Given the description of an element on the screen output the (x, y) to click on. 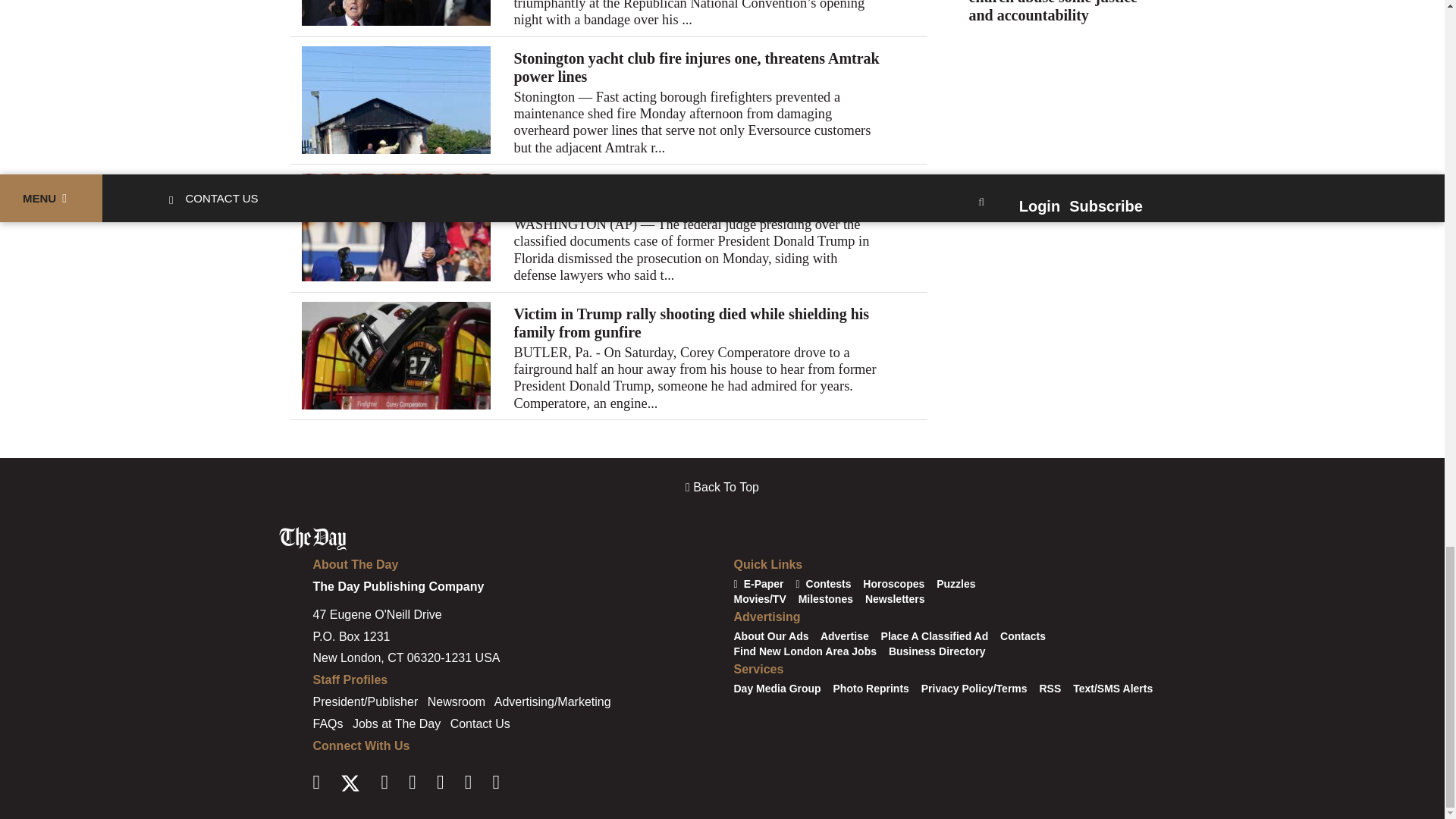
About the Day (355, 563)
